Given the description of an element on the screen output the (x, y) to click on. 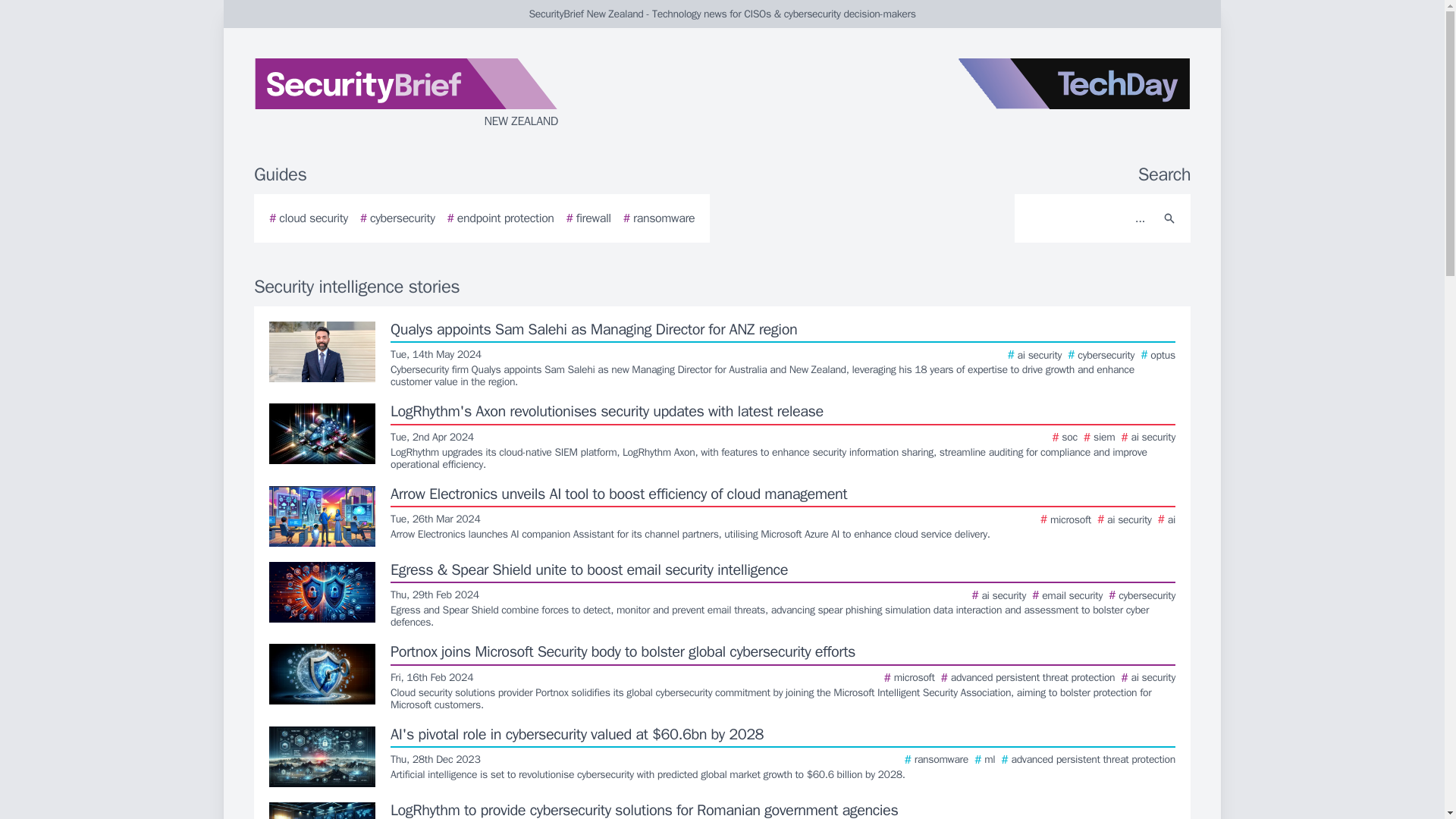
NEW ZEALAND (435, 94)
